Given the description of an element on the screen output the (x, y) to click on. 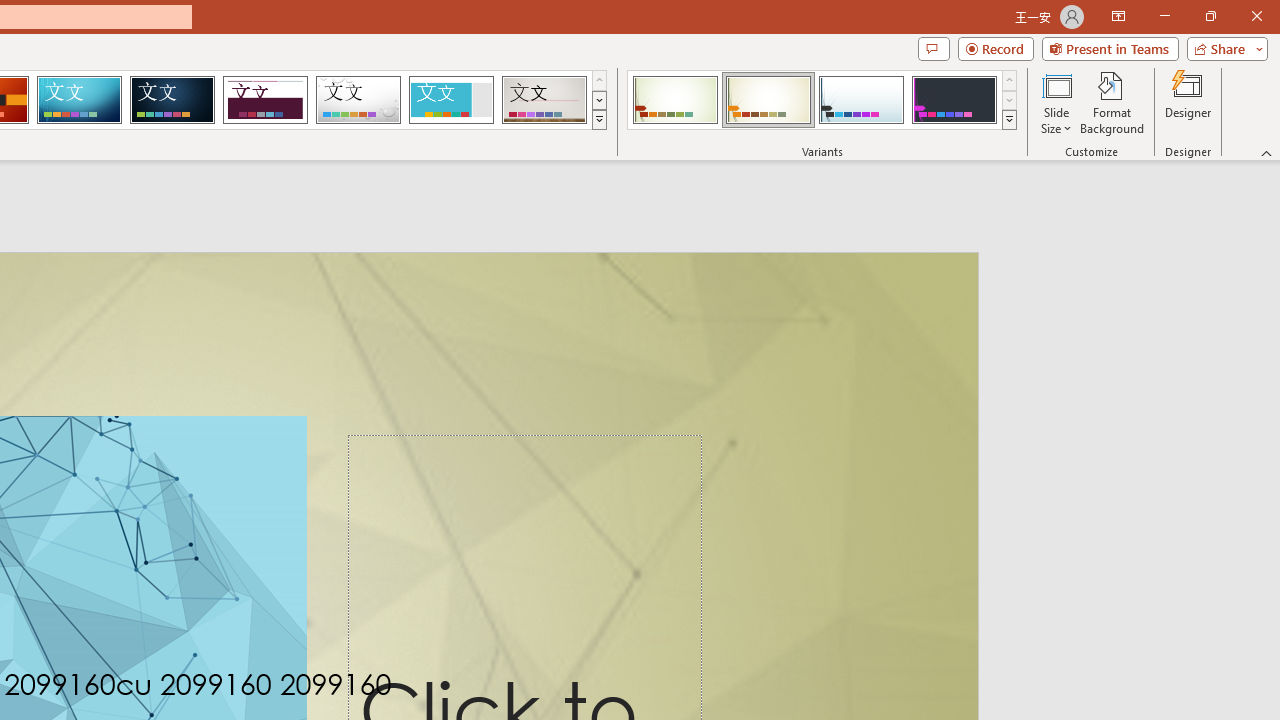
Slide Size (1056, 102)
Format Background (1111, 102)
Wisp Variant 3 (861, 100)
Variants (1009, 120)
Droplet Loading Preview... (358, 100)
